Given the description of an element on the screen output the (x, y) to click on. 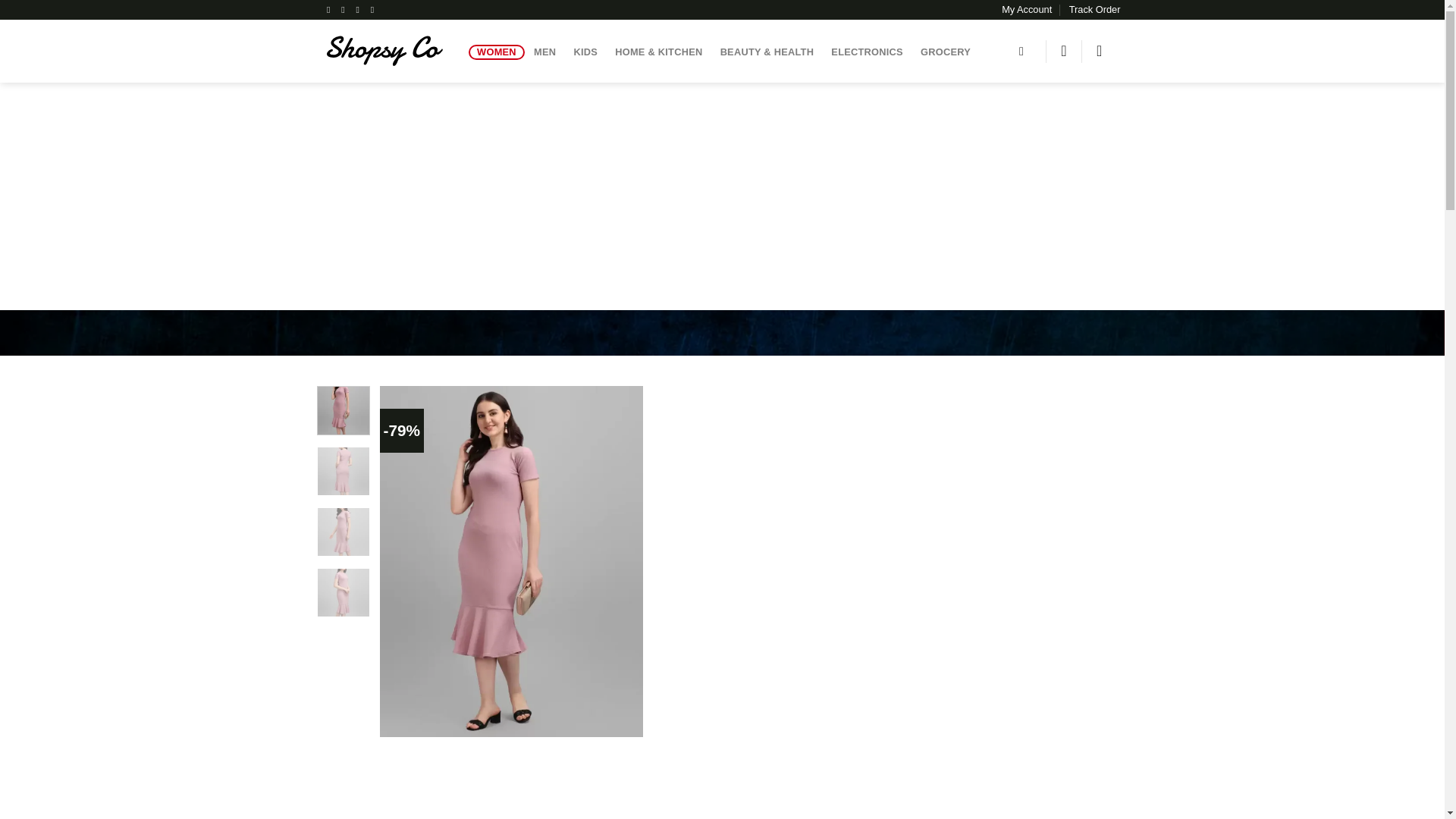
GROCERY (944, 52)
Shopsy - Saving Money While You Shop Online (384, 50)
My Account (1026, 9)
MEN (544, 52)
Wishlist (1063, 50)
Cart (1103, 50)
WOMEN (496, 52)
KIDS (585, 52)
ELECTRONICS (867, 52)
